Given the description of an element on the screen output the (x, y) to click on. 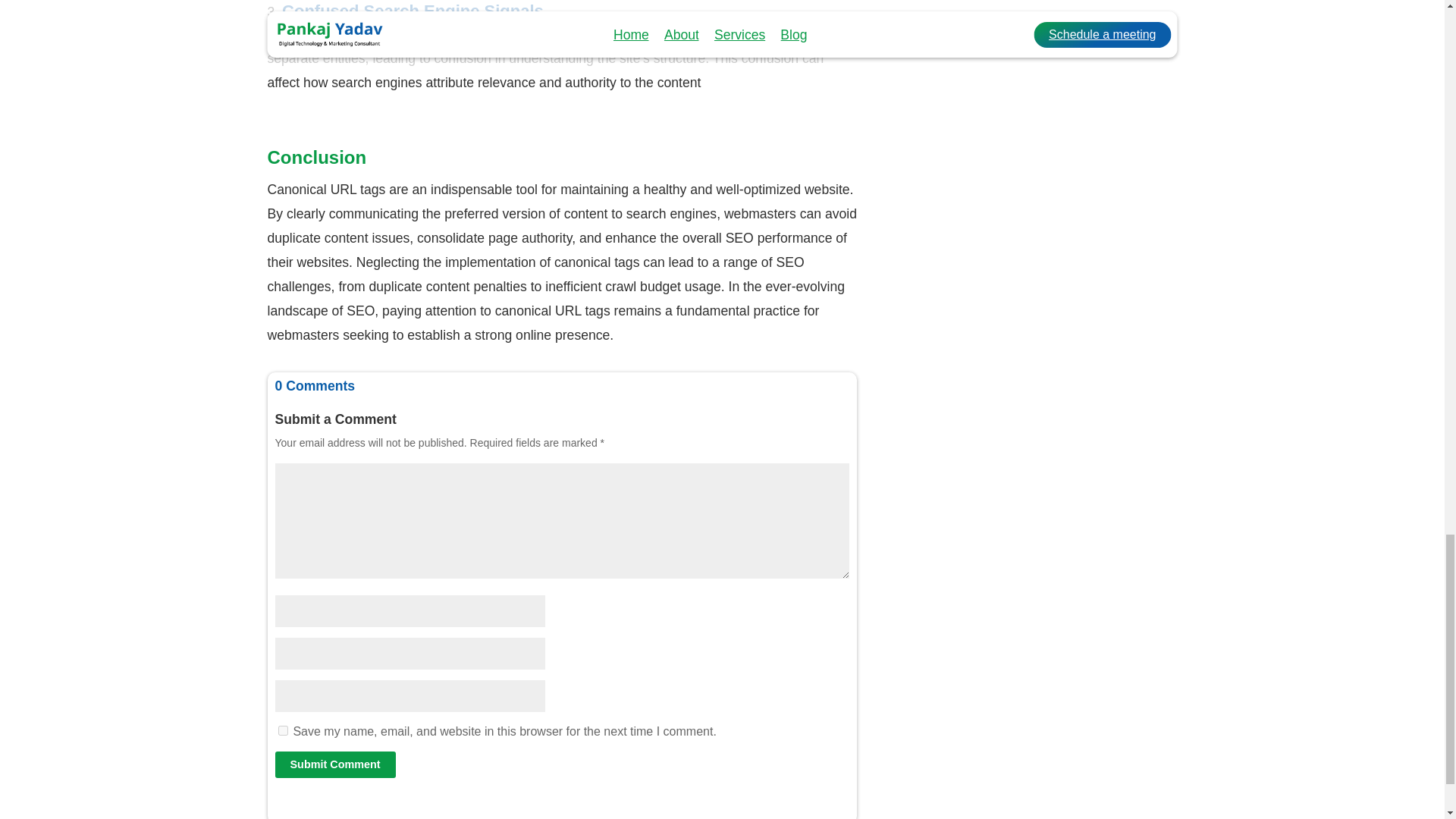
yes (282, 730)
Submit Comment (334, 764)
